Given the description of an element on the screen output the (x, y) to click on. 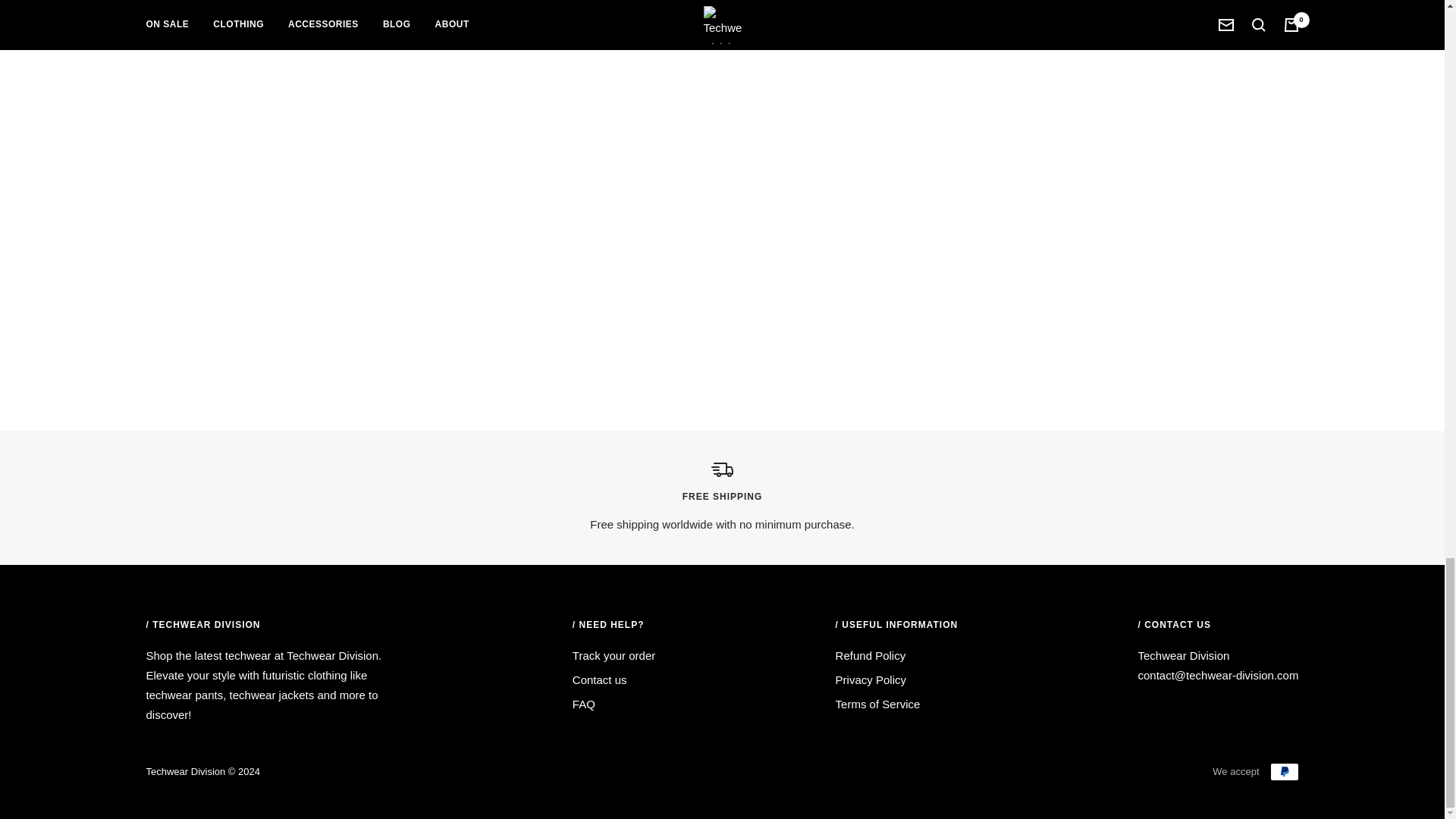
FAQ (583, 704)
Terms of Service (877, 704)
Refund Policy (870, 655)
Track your order (613, 655)
Contact us (599, 680)
Privacy Policy (870, 680)
